Given the description of an element on the screen output the (x, y) to click on. 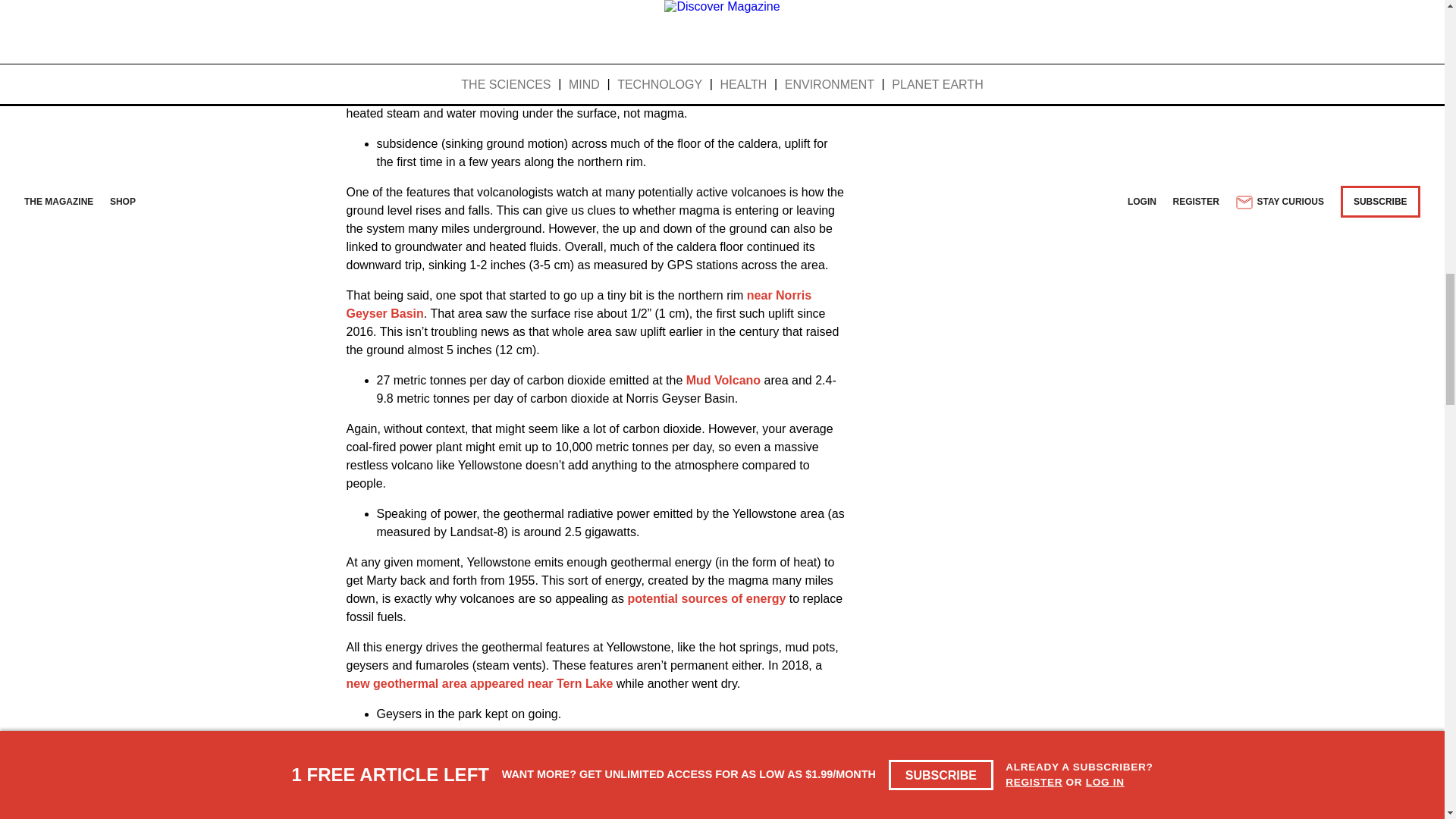
new geothermal area appeared near Tern Lake (479, 683)
potential sources of energy (706, 598)
Mud Volcano (722, 379)
Steamboat Geyser (656, 744)
near Norris Geyser Basin (578, 304)
